Given the description of an element on the screen output the (x, y) to click on. 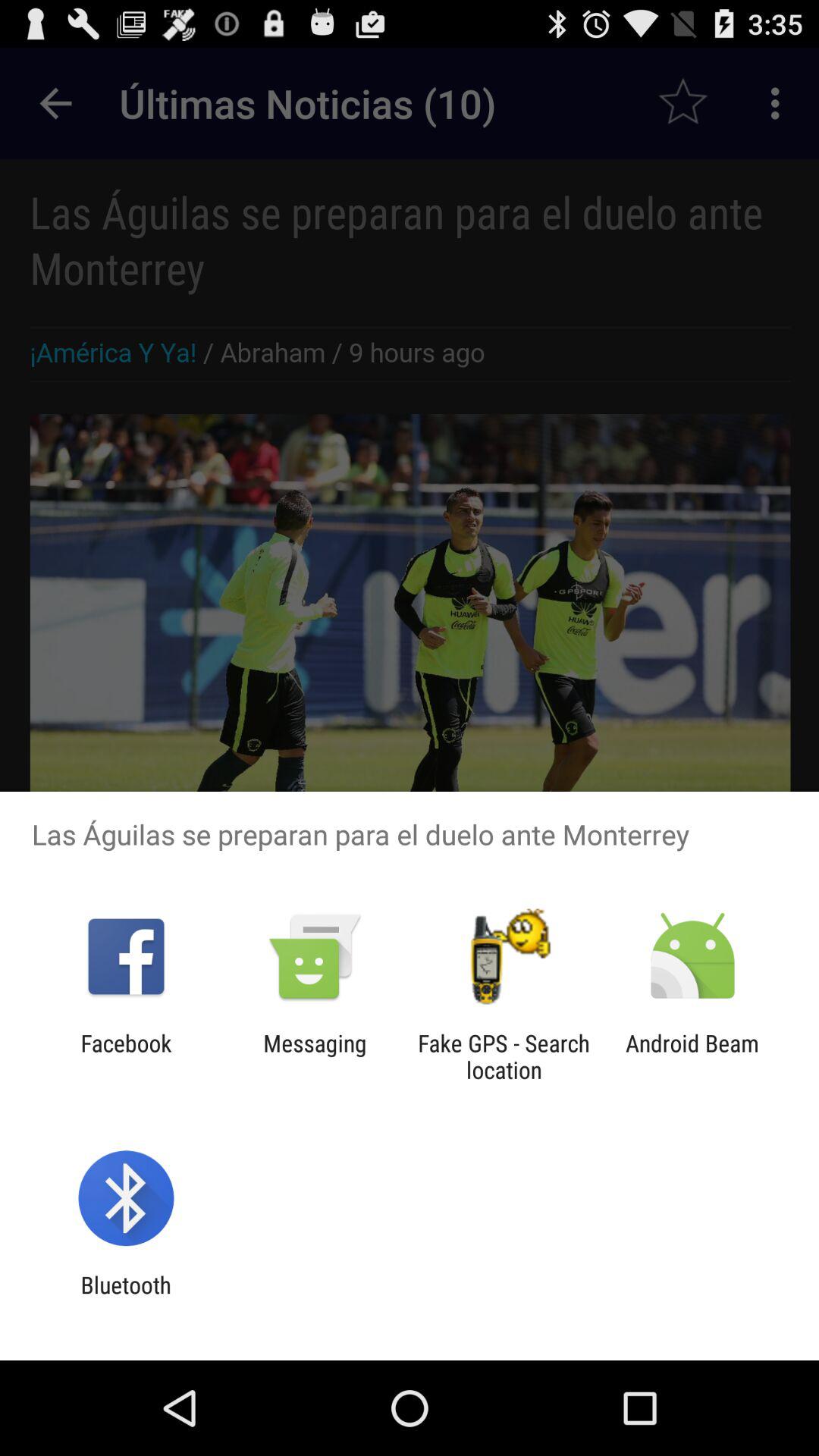
turn on the icon next to the facebook item (314, 1056)
